Given the description of an element on the screen output the (x, y) to click on. 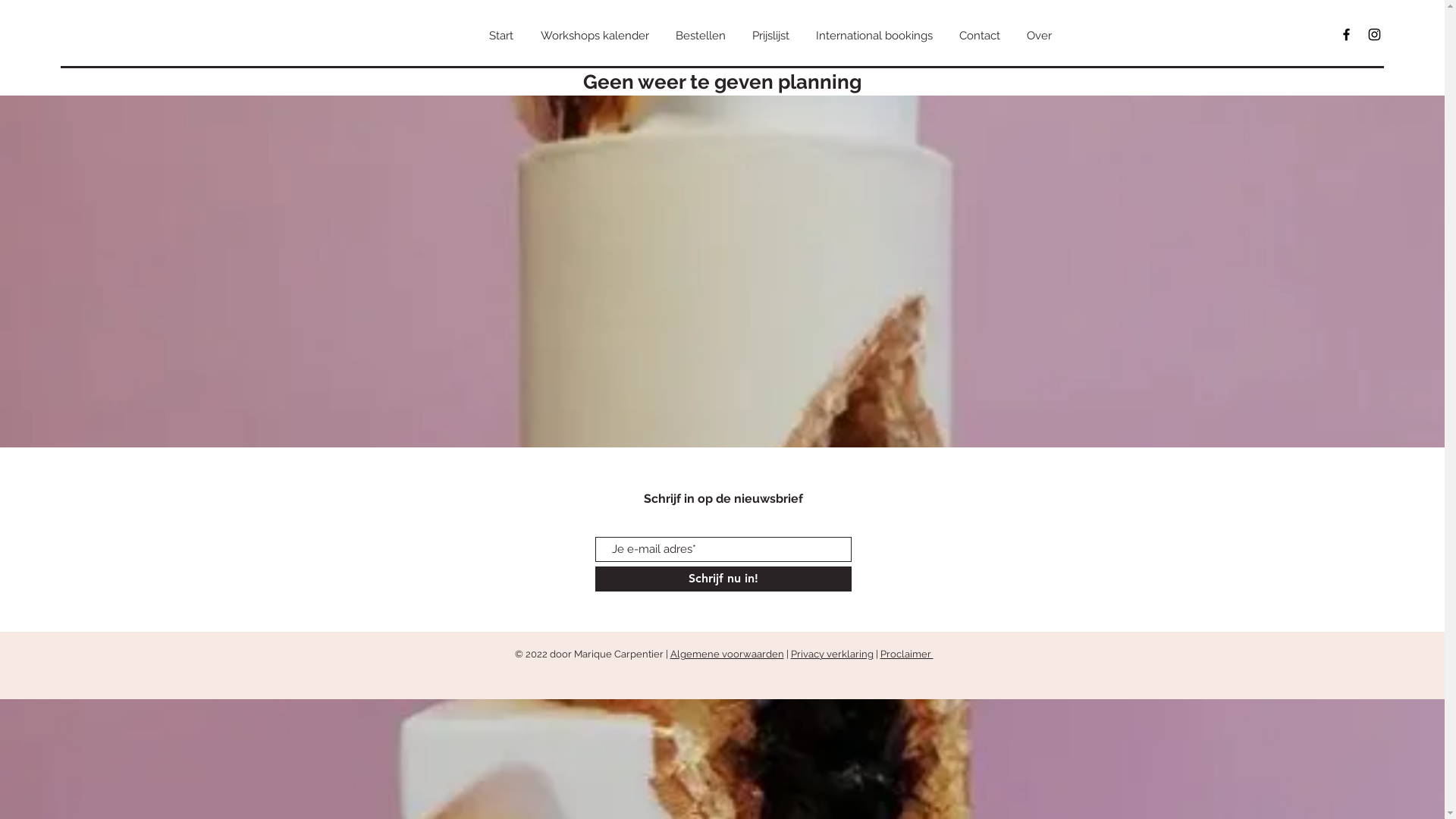
Prijslijst Element type: text (770, 35)
Schrijf nu in! Element type: text (722, 578)
Start Element type: text (500, 35)
Privacy verklaring Element type: text (831, 653)
Bestellen Element type: text (700, 35)
International bookings Element type: text (873, 35)
Workshops kalender Element type: text (594, 35)
Algemene voorwaarden Element type: text (727, 653)
Proclaimer  Element type: text (905, 653)
Over Element type: text (1038, 35)
Contact Element type: text (979, 35)
